Given the description of an element on the screen output the (x, y) to click on. 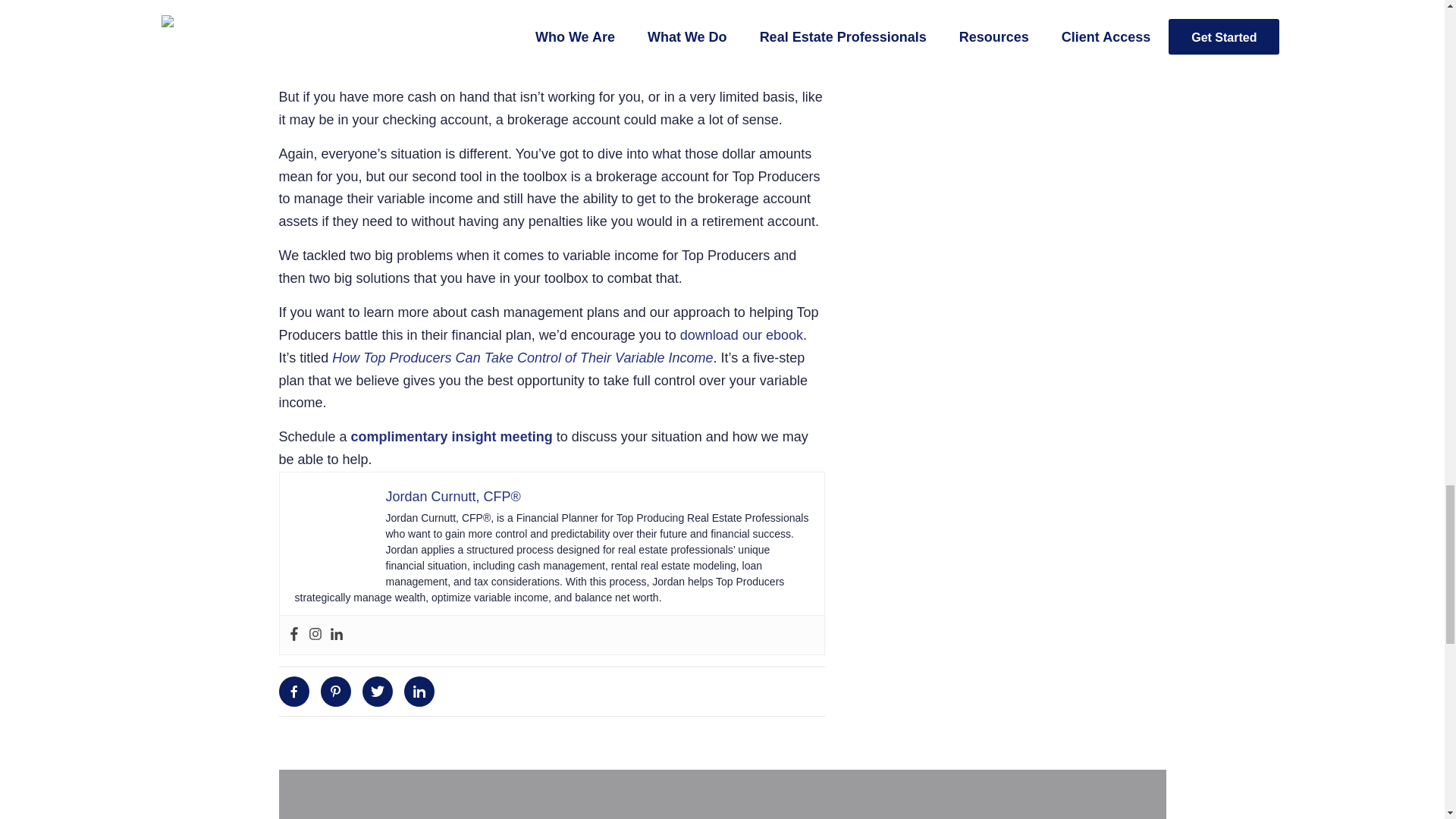
Facebook (293, 691)
Twitter (377, 691)
How Top Producers Can Take Control of Their Variable Income (522, 357)
complimentary insight meeting (451, 436)
overall net worth (328, 17)
download our ebook (741, 335)
Pinterest (335, 691)
Share on Twitter (377, 691)
Linkedin (418, 691)
Share on Linkedin (418, 691)
